Given the description of an element on the screen output the (x, y) to click on. 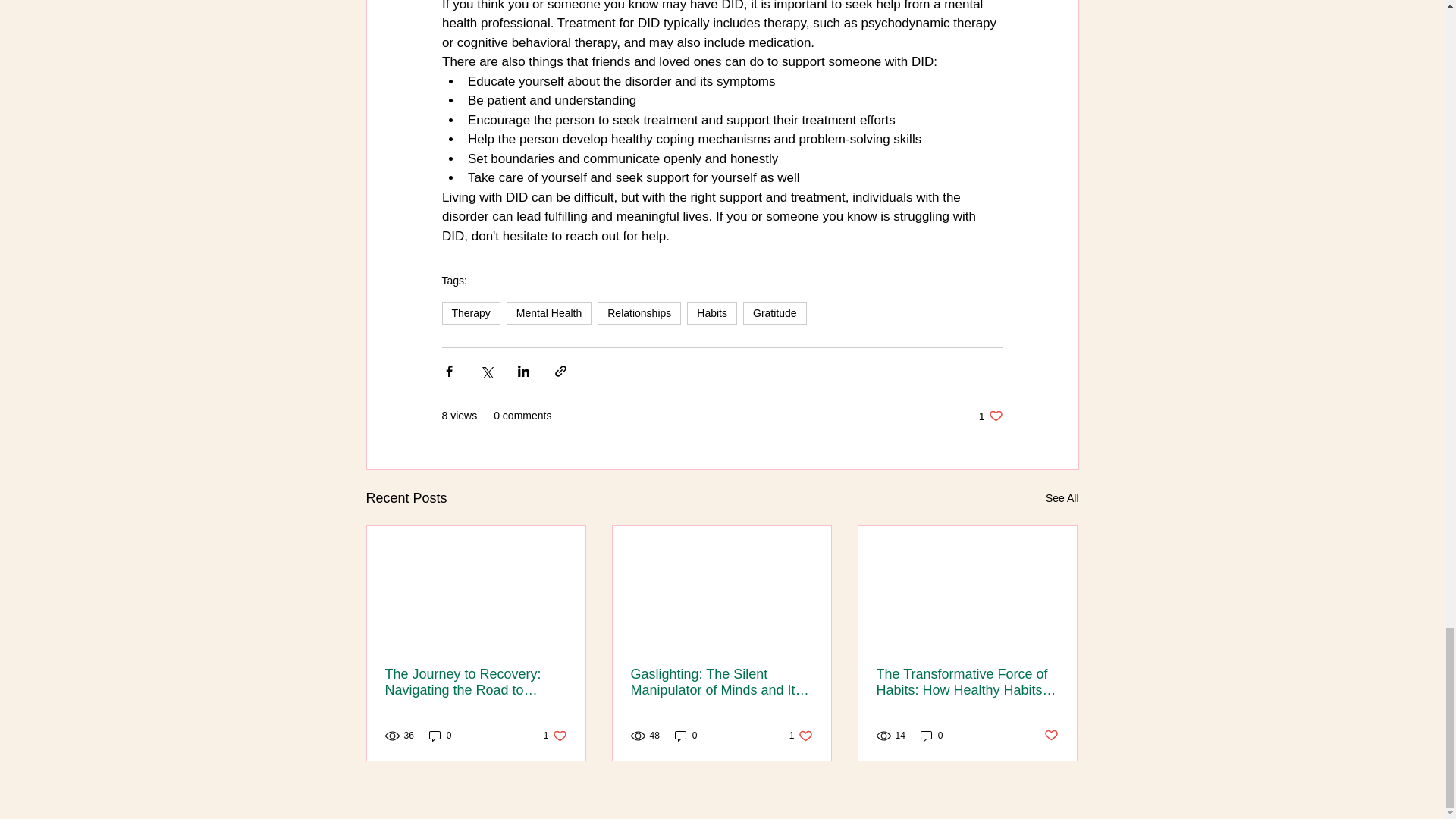
Post not marked as liked (1050, 735)
0 (931, 735)
0 (440, 735)
Habits (990, 415)
Mental Health (711, 313)
